Given the description of an element on the screen output the (x, y) to click on. 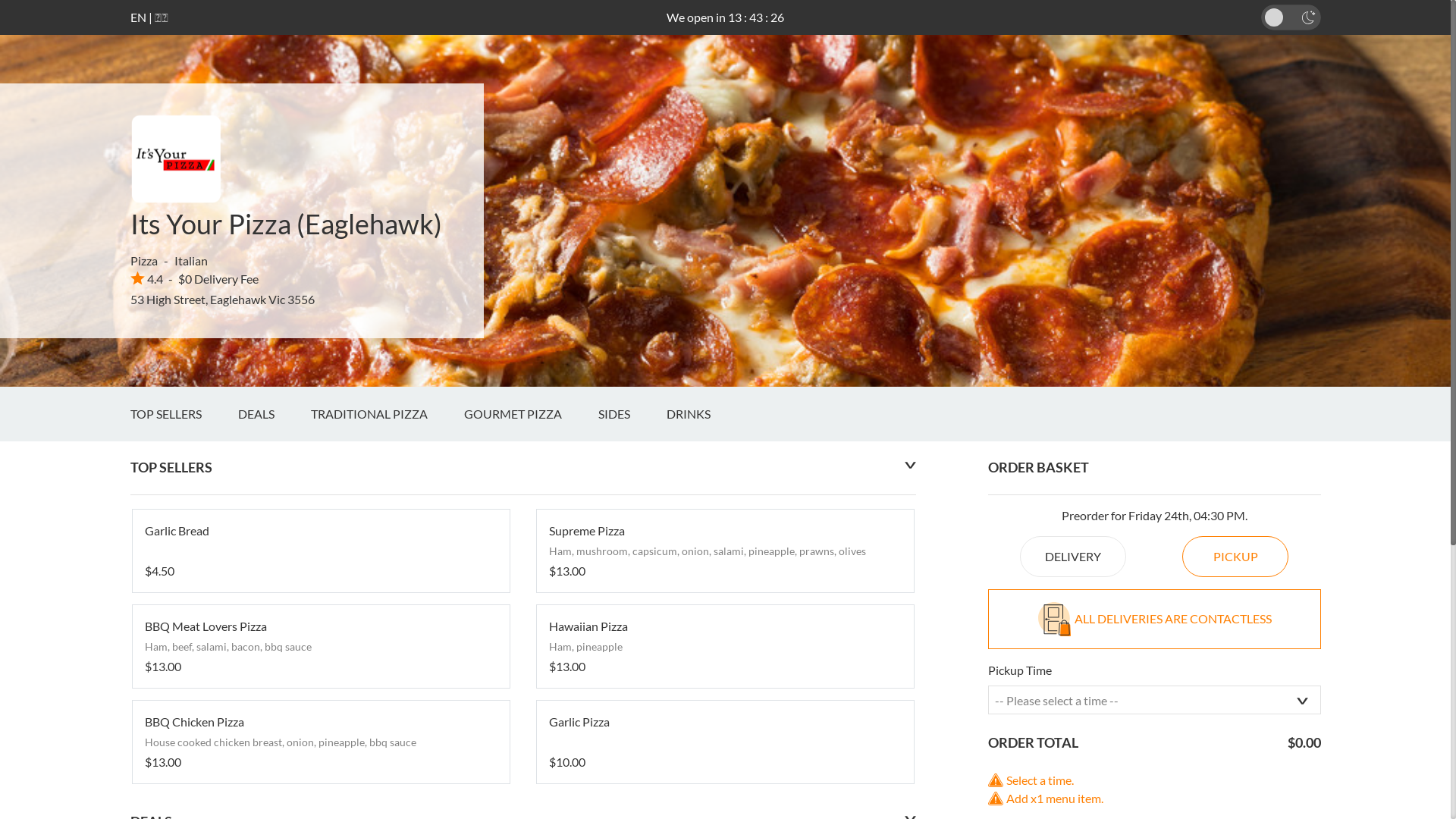
Hawaiian Pizza
Ham, pineapple
$13.00 Element type: text (725, 646)
Garlic Bread
$4.50 Element type: text (320, 550)
4.4 Element type: text (146, 278)
PICKUP Element type: text (1235, 556)
EN Element type: text (138, 16)
DEALS Element type: text (274, 413)
Hawaiian Pizza
Ham, pineapple
$13.00 Element type: text (725, 646)
DELIVERY Element type: text (1072, 556)
Garlic Bread
$4.50 Element type: text (320, 550)
Its Your Pizza (Eaglehawk) Element type: text (286, 223)
TOP SELLERS Element type: text (184, 413)
Garlic Pizza
$10.00 Element type: text (725, 741)
DRINKS Element type: text (705, 413)
TRADITIONAL PIZZA Element type: text (387, 413)
Garlic Pizza
$10.00 Element type: text (725, 741)
GOURMET PIZZA Element type: text (531, 413)
SIDES Element type: text (631, 413)
